Given the description of an element on the screen output the (x, y) to click on. 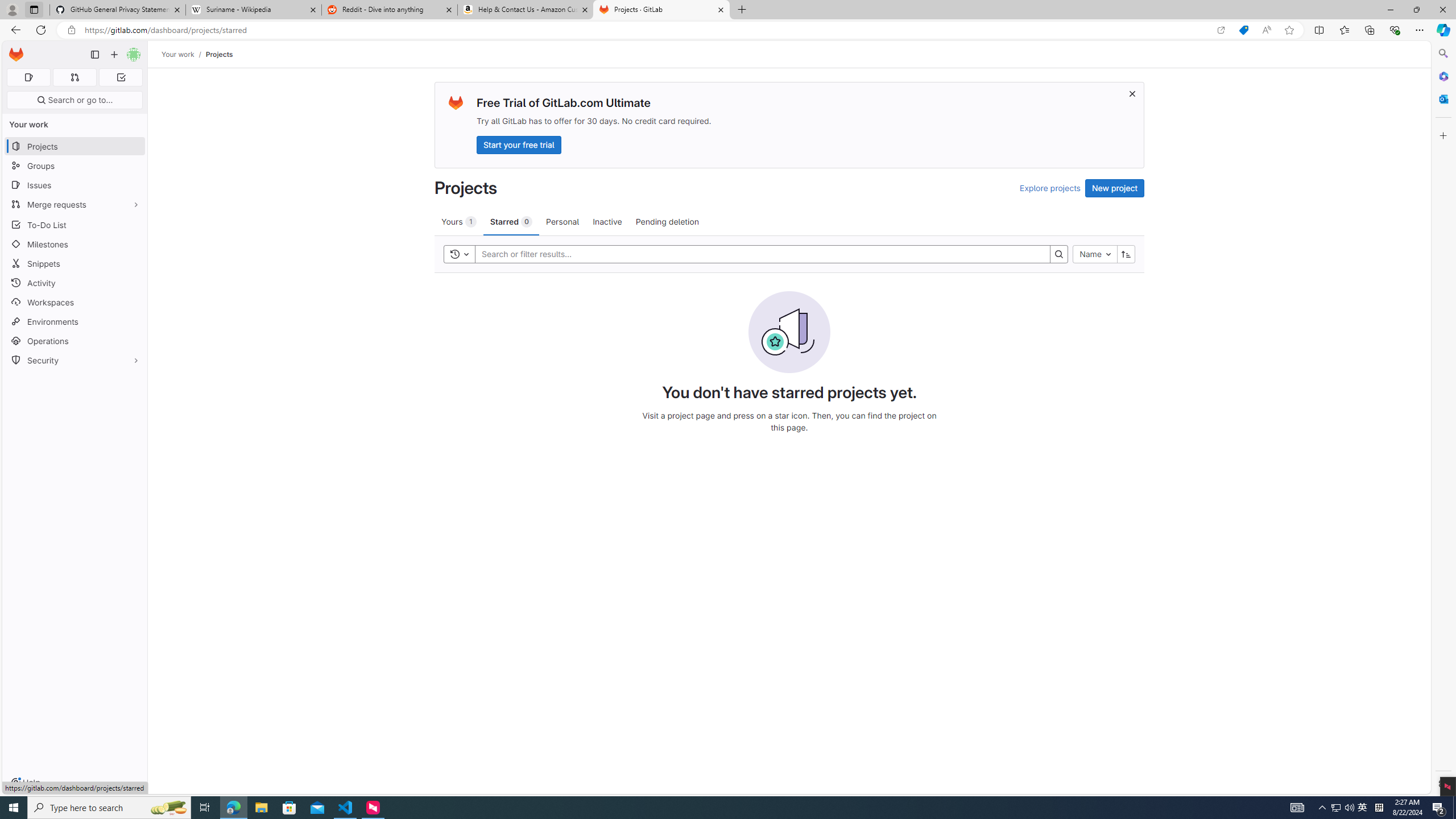
Class: s16 gl-icon gl-button-icon  (1132, 93)
Projects (218, 53)
Personal (562, 221)
Projects (218, 53)
Environments (74, 321)
